Given the description of an element on the screen output the (x, y) to click on. 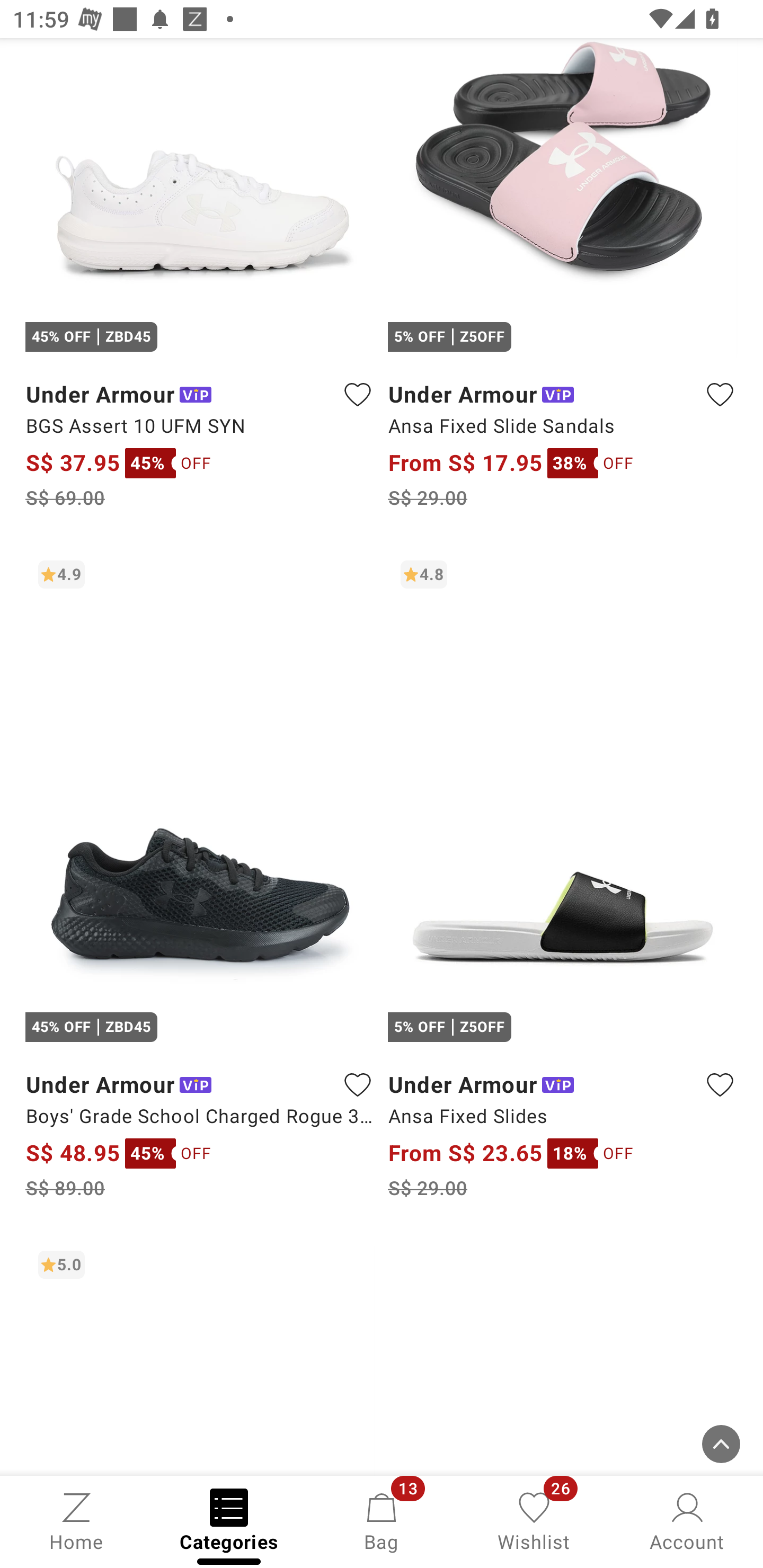
Home (76, 1519)
Bag, 13 new notifications Bag (381, 1519)
Wishlist, 26 new notifications Wishlist (533, 1519)
Account (686, 1519)
